Given the description of an element on the screen output the (x, y) to click on. 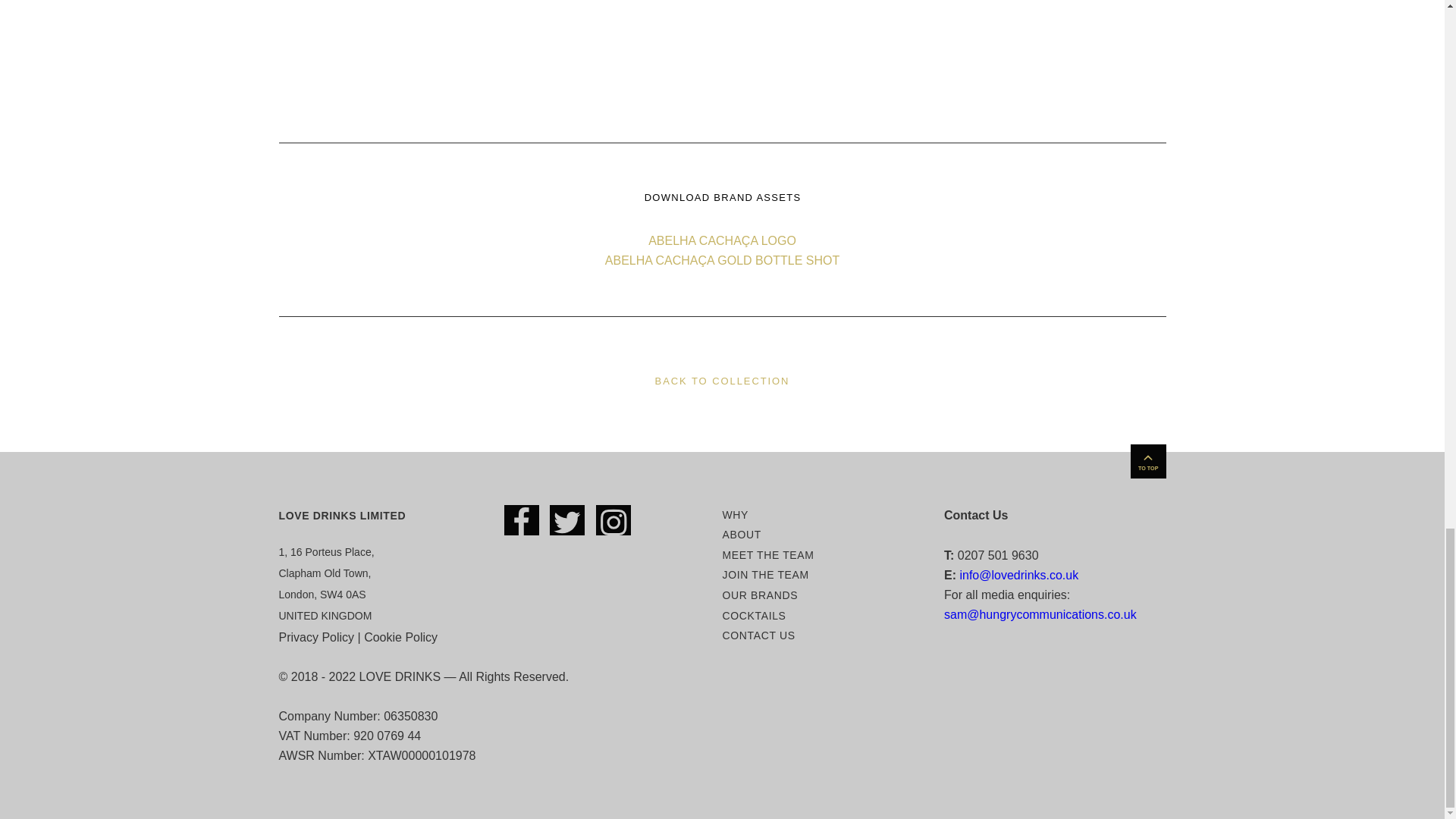
WHY (735, 514)
COCKTAILS (754, 615)
MEET THE TEAM (767, 554)
OUR BRANDS (759, 594)
BACK TO COLLECTION (722, 380)
TO TOP (1148, 461)
ABOUT (741, 534)
JOIN THE TEAM (765, 574)
